Given the description of an element on the screen output the (x, y) to click on. 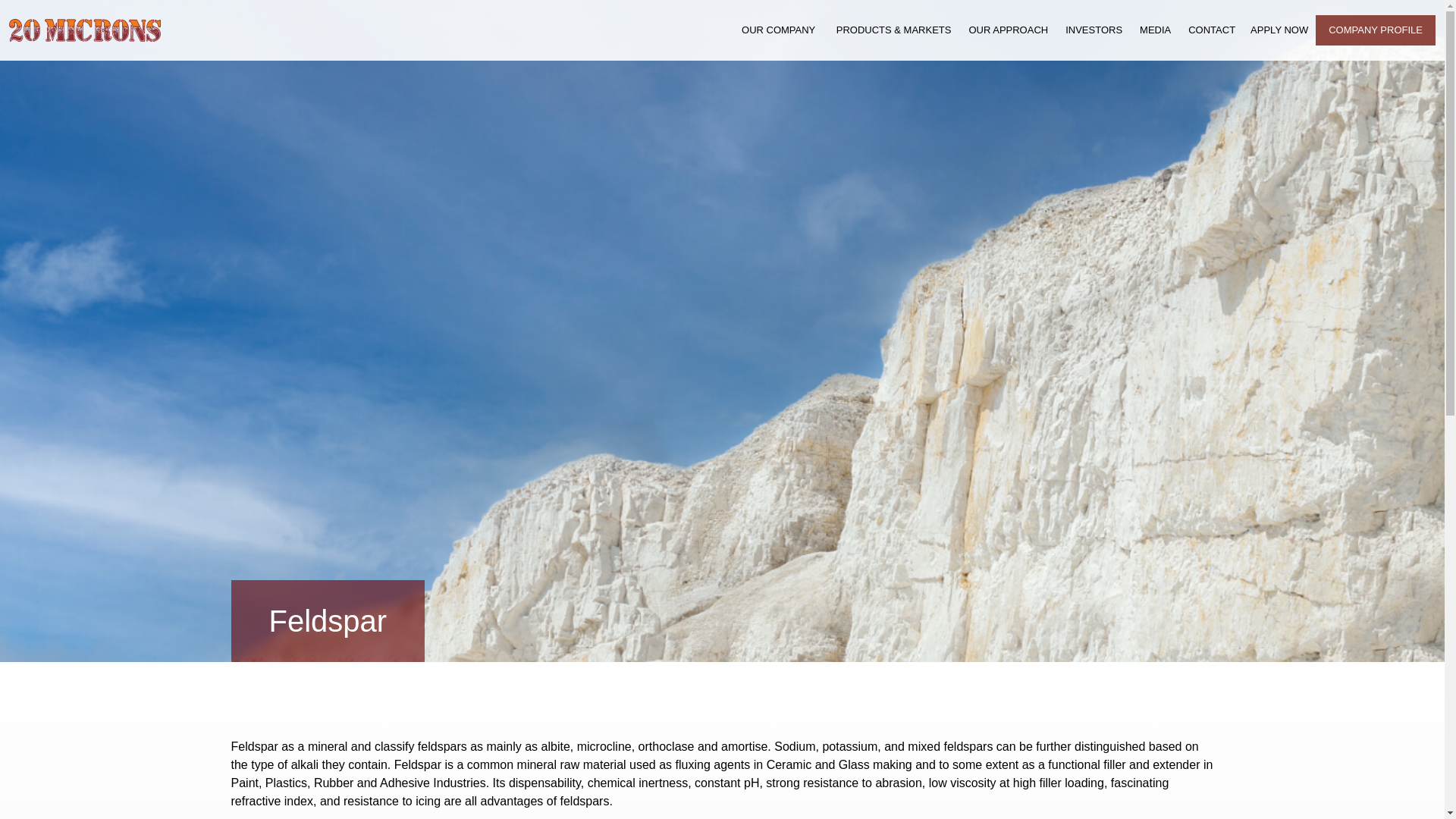
INVESTORS (1095, 30)
OUR APPROACH (1009, 30)
OUR COMPANY (774, 30)
